Given the description of an element on the screen output the (x, y) to click on. 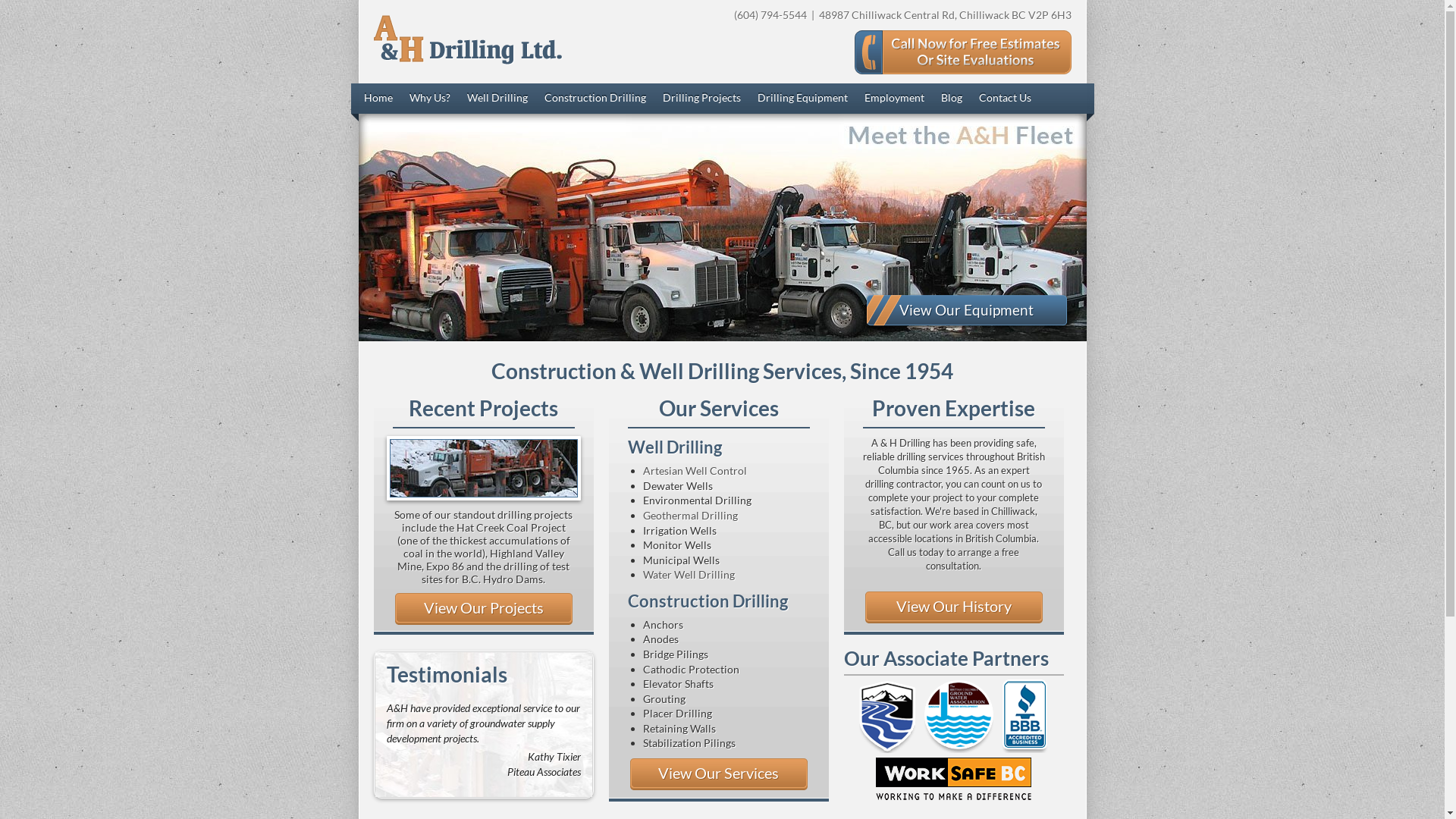
Artesian Well Control Element type: text (694, 470)
Employment Element type: text (893, 98)
Call Now for Free Estimates or Site Evaluations Element type: hover (961, 52)
Why Us? Element type: text (429, 98)
View Our Projects Element type: text (482, 608)
View Our History Element type: text (952, 607)
View Our Equipment Element type: text (965, 309)
View Our Services Element type: text (717, 774)
Drilling Projects Element type: text (701, 98)
Construction Drilling Element type: text (594, 98)
Blog Element type: text (950, 98)
Contact Us Element type: text (1004, 98)
Water Well Drilling Element type: text (688, 573)
Well Drilling Element type: text (497, 98)
Drilling Equipment Element type: text (801, 98)
Geothermal Drilling Element type: text (690, 514)
Home Element type: text (378, 98)
